Given the description of an element on the screen output the (x, y) to click on. 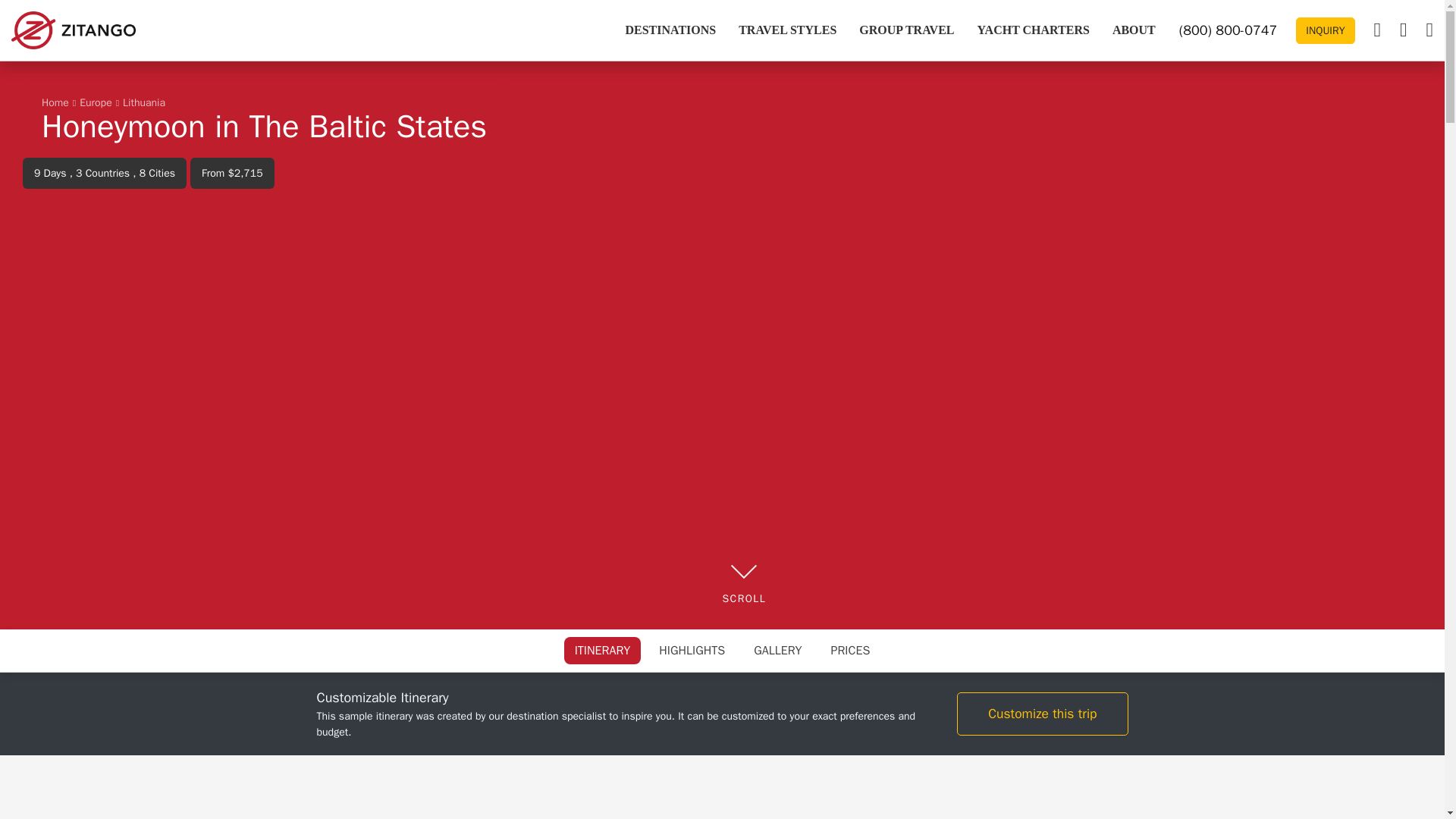
DESTINATIONS (669, 30)
SCROLL (743, 597)
